Given the description of an element on the screen output the (x, y) to click on. 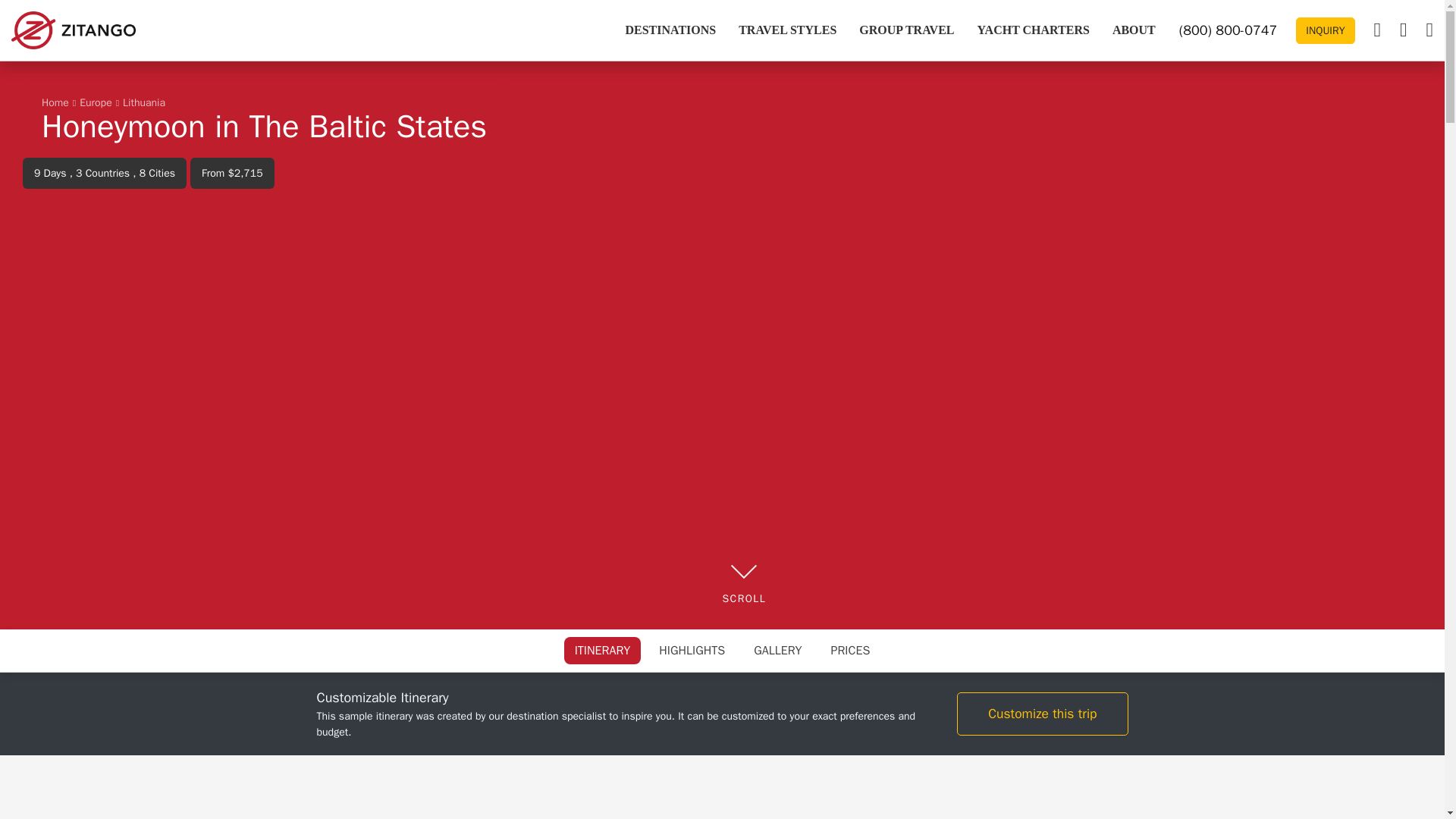
DESTINATIONS (669, 30)
SCROLL (743, 597)
